Given the description of an element on the screen output the (x, y) to click on. 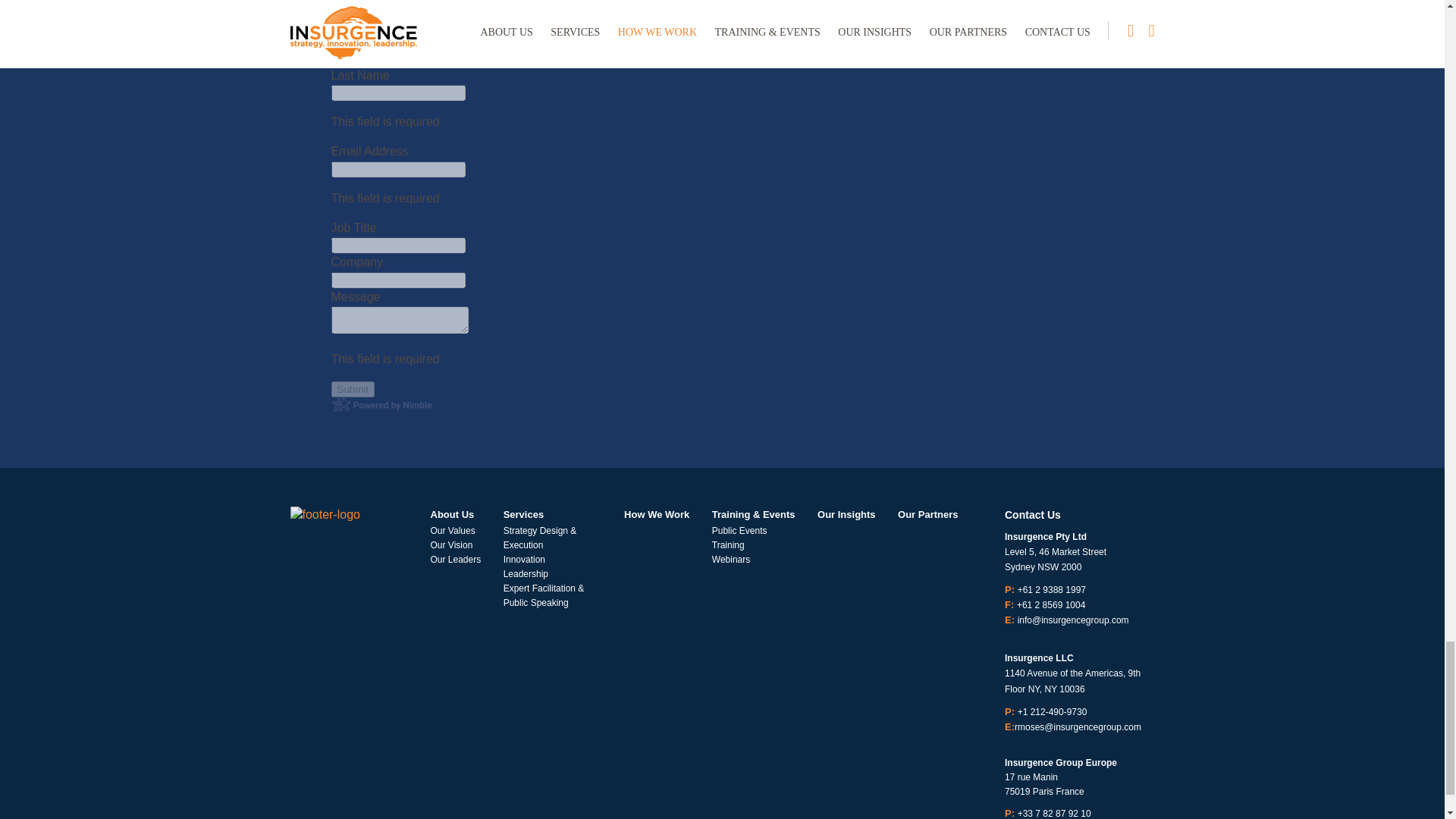
How We Work (656, 514)
Our Leaders (455, 559)
Leadership (525, 573)
Innovation (523, 559)
Services (523, 514)
Our Vision (451, 544)
Our Values (453, 530)
About Us (452, 514)
